Given the description of an element on the screen output the (x, y) to click on. 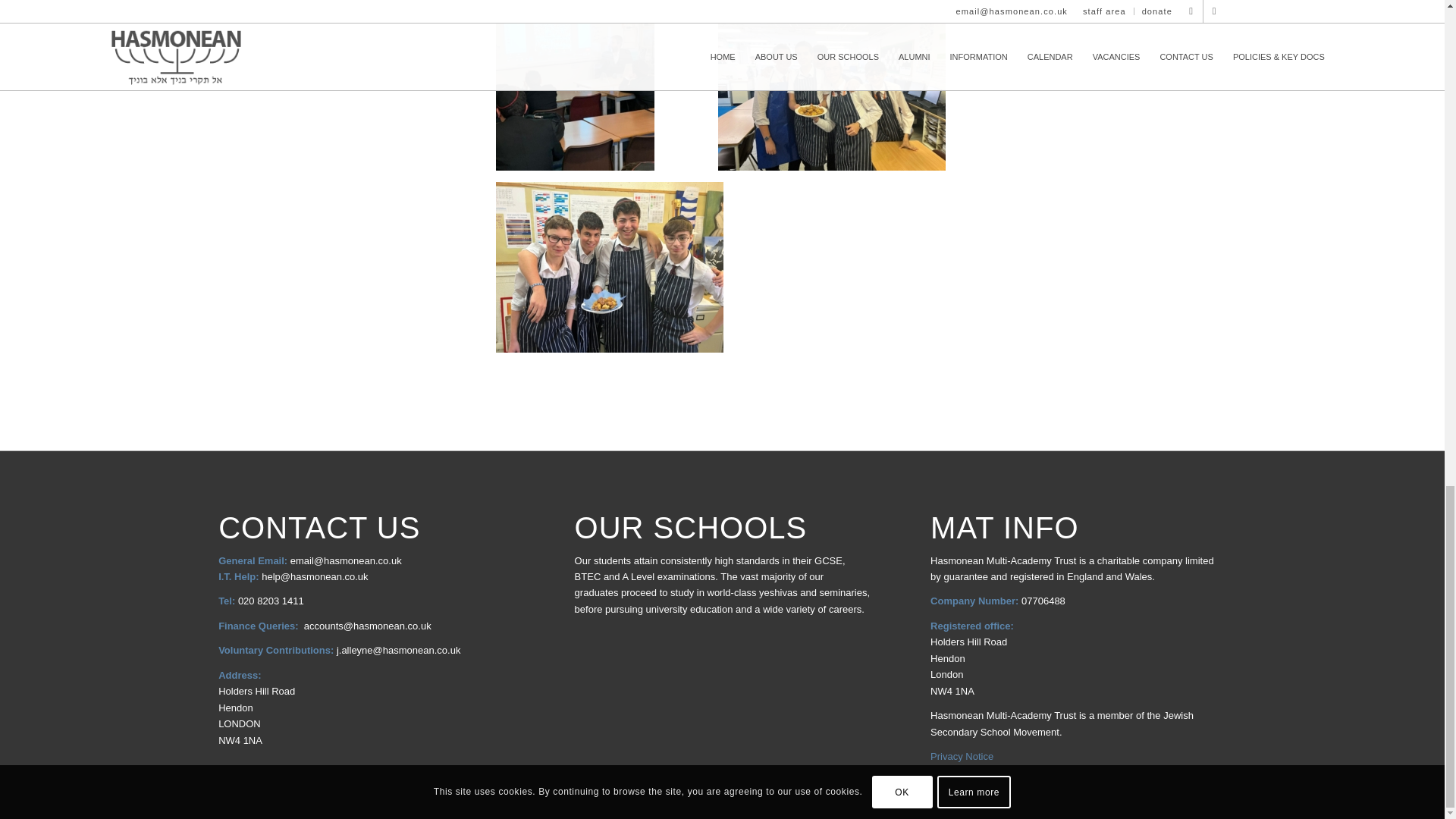
Privacy Notice (961, 756)
